Given the description of an element on the screen output the (x, y) to click on. 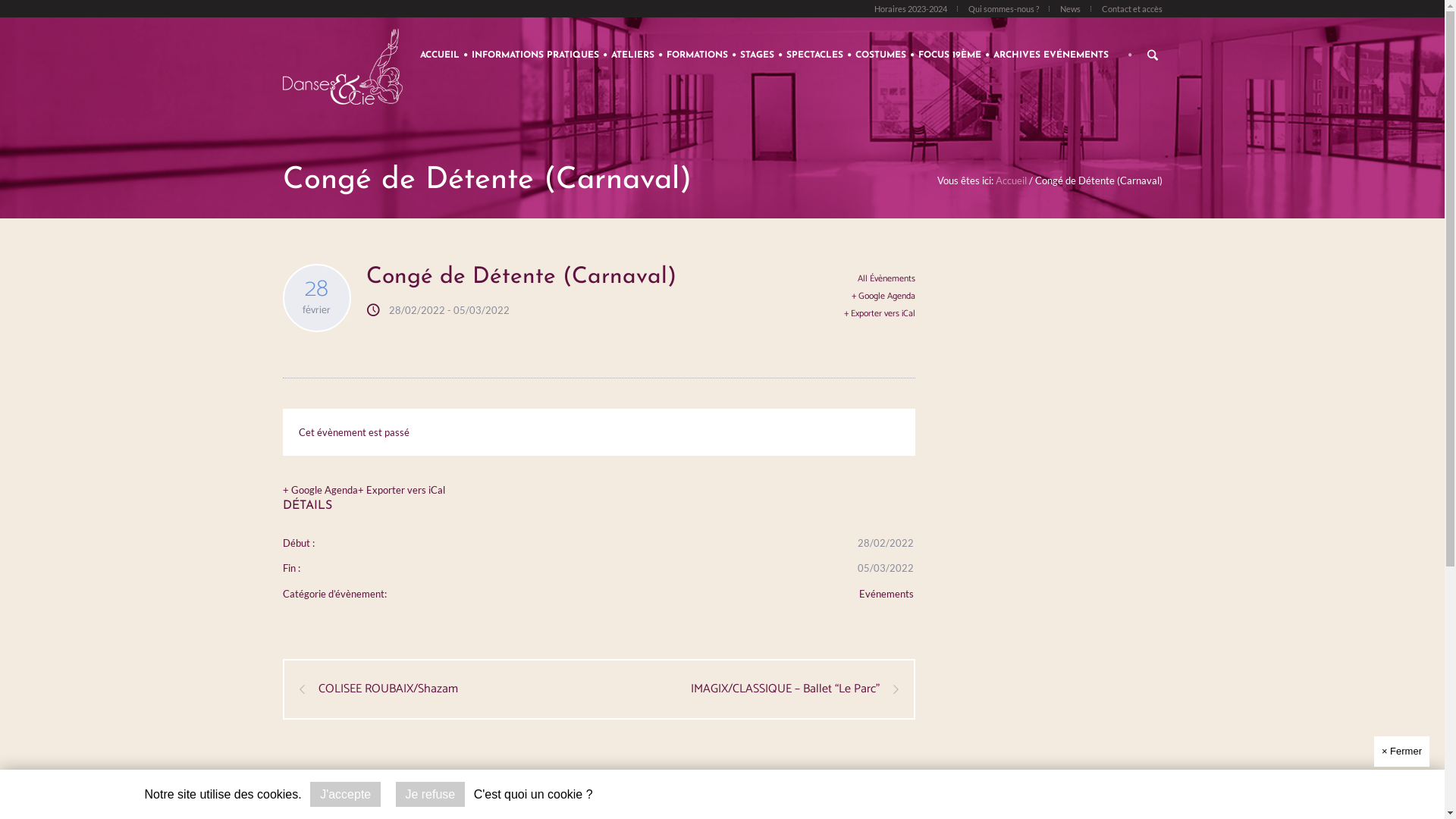
YouTube Element type: hover (747, 705)
Qui sommes-nous ? Element type: text (1002, 8)
SPECTACLES Element type: text (814, 55)
COLISEE ROUBAIX/Shazam Element type: text (377, 688)
Horaires 2023-2024 Element type: text (909, 8)
STAGES Element type: text (757, 55)
ATELIERS Element type: text (632, 55)
+ Google Agenda Element type: text (319, 489)
+ Google Agenda Element type: text (879, 296)
FORMATIONS Element type: text (697, 55)
+ Exporter vers iCal Element type: text (879, 313)
J'accepte Element type: text (345, 793)
INFORMATIONS PRATIQUES Element type: text (535, 55)
COSTUMES Element type: text (880, 55)
C'est quoi un cookie ? Element type: text (533, 793)
Facebook Element type: hover (702, 705)
+ Exporter vers iCal Element type: text (401, 489)
Accueil Element type: text (1010, 180)
News Element type: text (1070, 8)
Je refuse Element type: text (429, 793)
ACCUEIL Element type: text (439, 55)
Danses & Cie Element type: hover (721, 555)
